Given the description of an element on the screen output the (x, y) to click on. 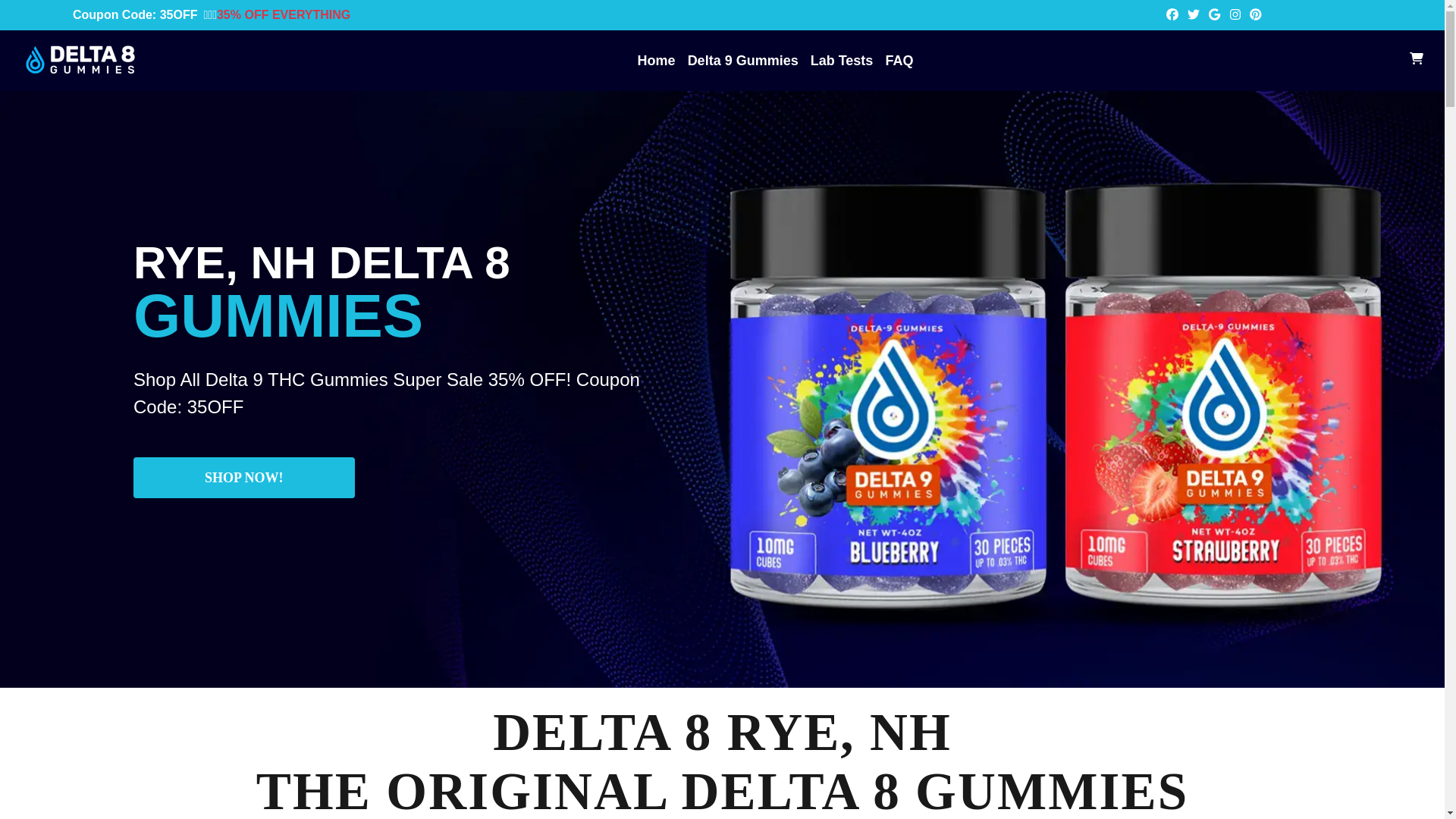
Delta 9 Gummies (742, 60)
SHOP NOW! (244, 477)
FAQ (898, 60)
Lab Tests (841, 60)
Home (656, 60)
